Given the description of an element on the screen output the (x, y) to click on. 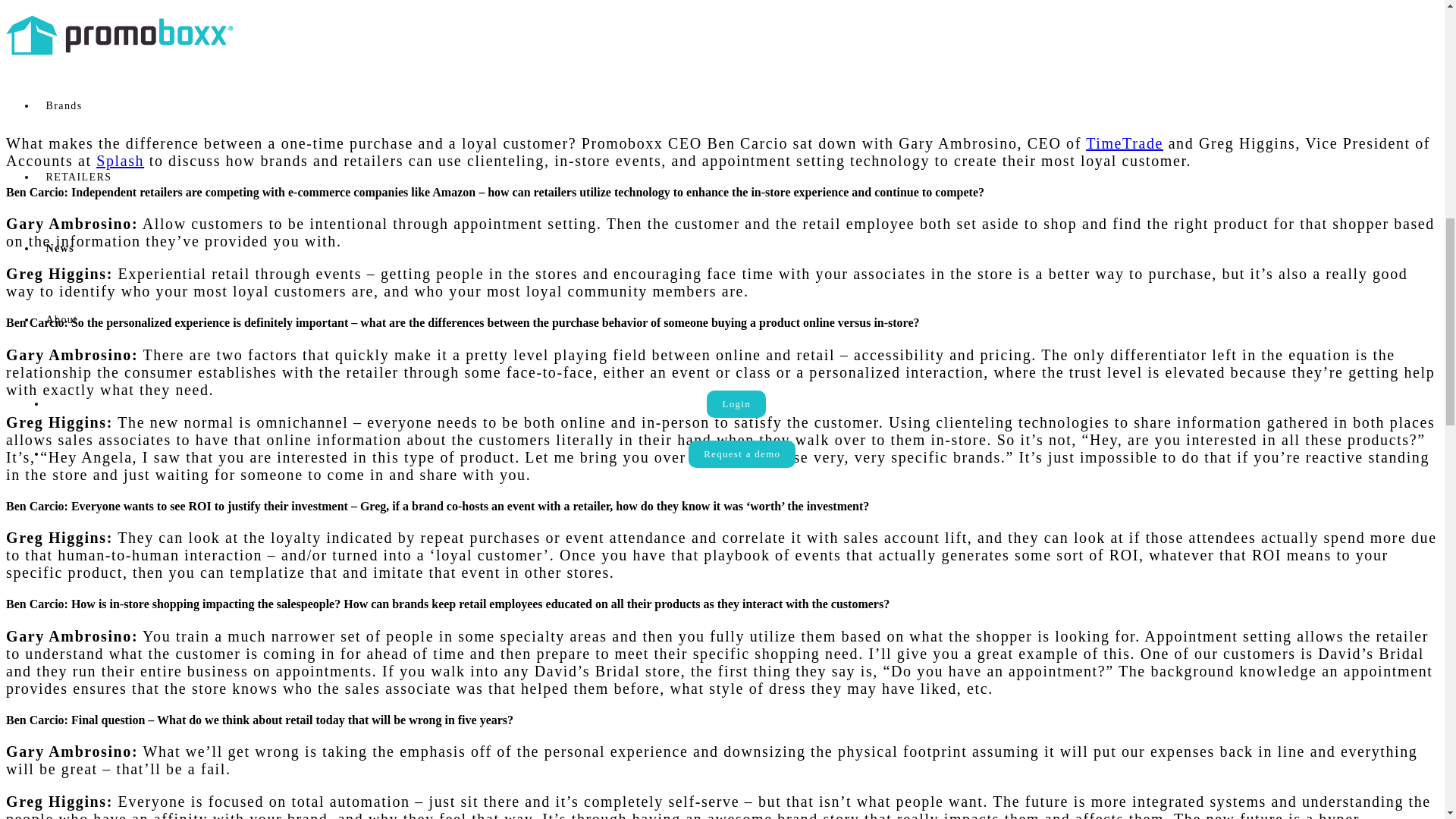
TimeTrade (1124, 143)
Splash (120, 160)
